Given the description of an element on the screen output the (x, y) to click on. 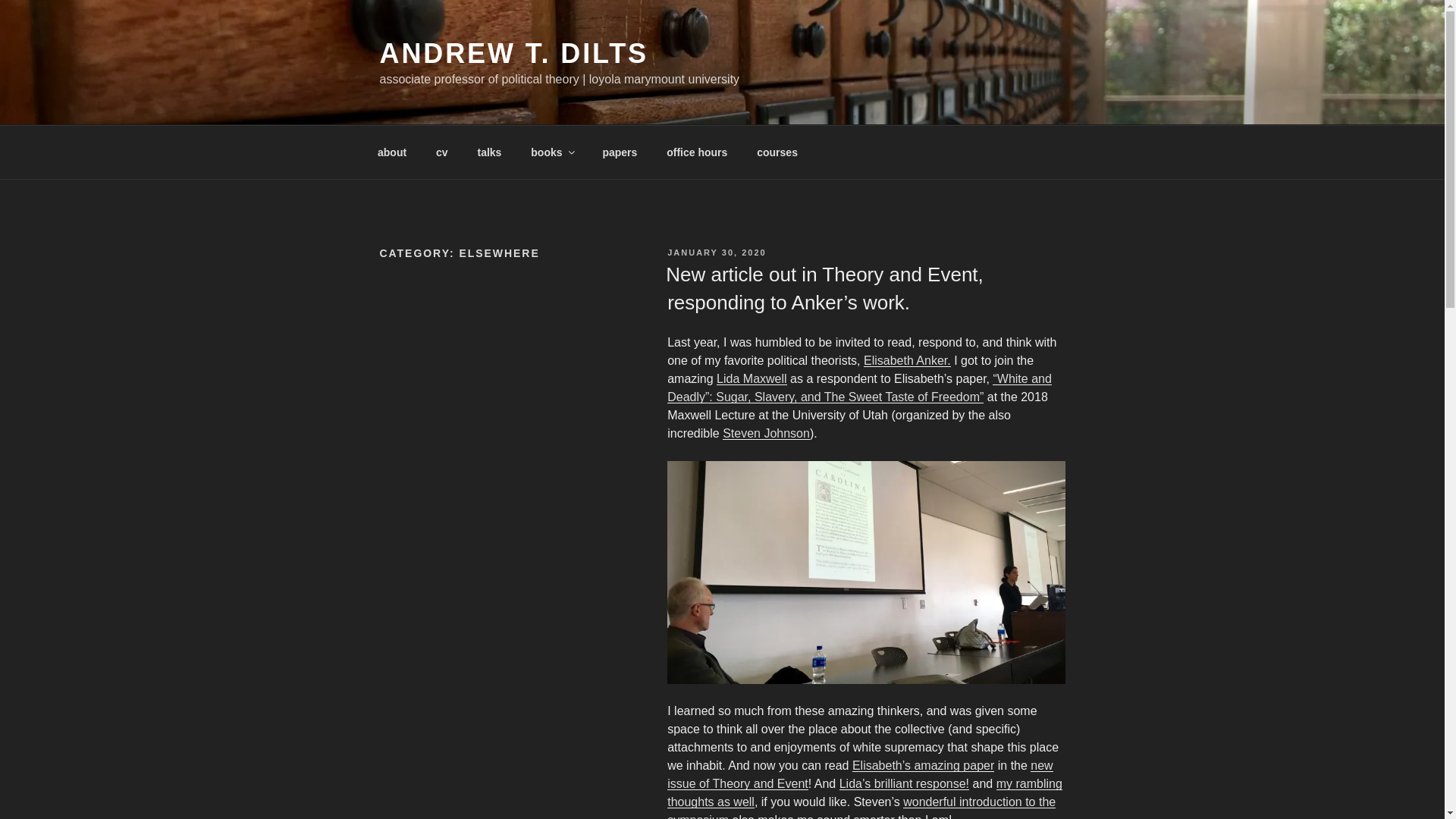
courses (777, 151)
about (391, 151)
wonderful introduction to the symposium (860, 807)
office hours (697, 151)
papers (619, 151)
JANUARY 30, 2020 (715, 252)
Elisabeth Anker. (906, 359)
talks (489, 151)
Lida Maxwell (751, 378)
ANDREW T. DILTS (512, 52)
